Given the description of an element on the screen output the (x, y) to click on. 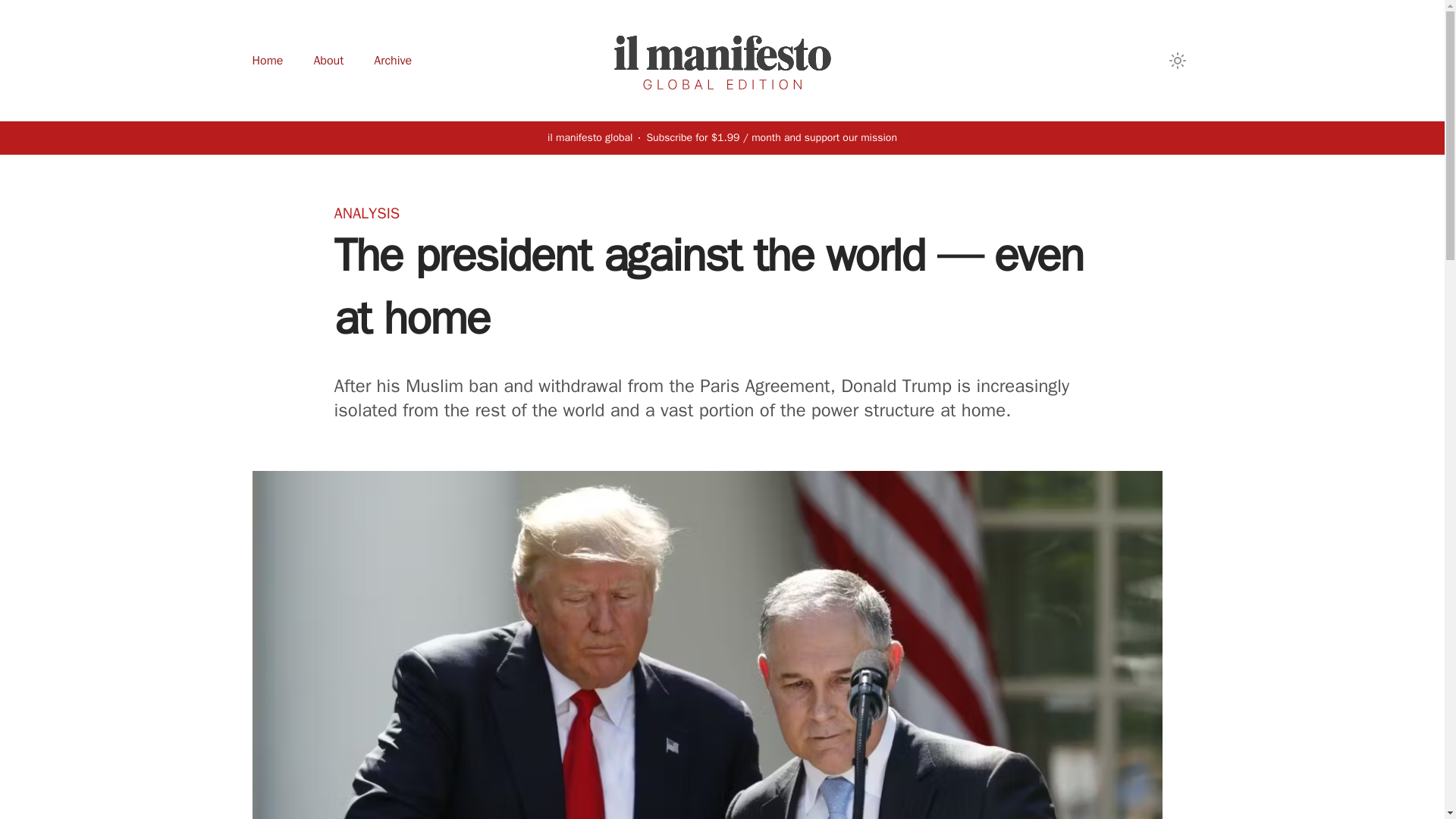
Archive (393, 60)
Home (266, 60)
About (328, 60)
